Given the description of an element on the screen output the (x, y) to click on. 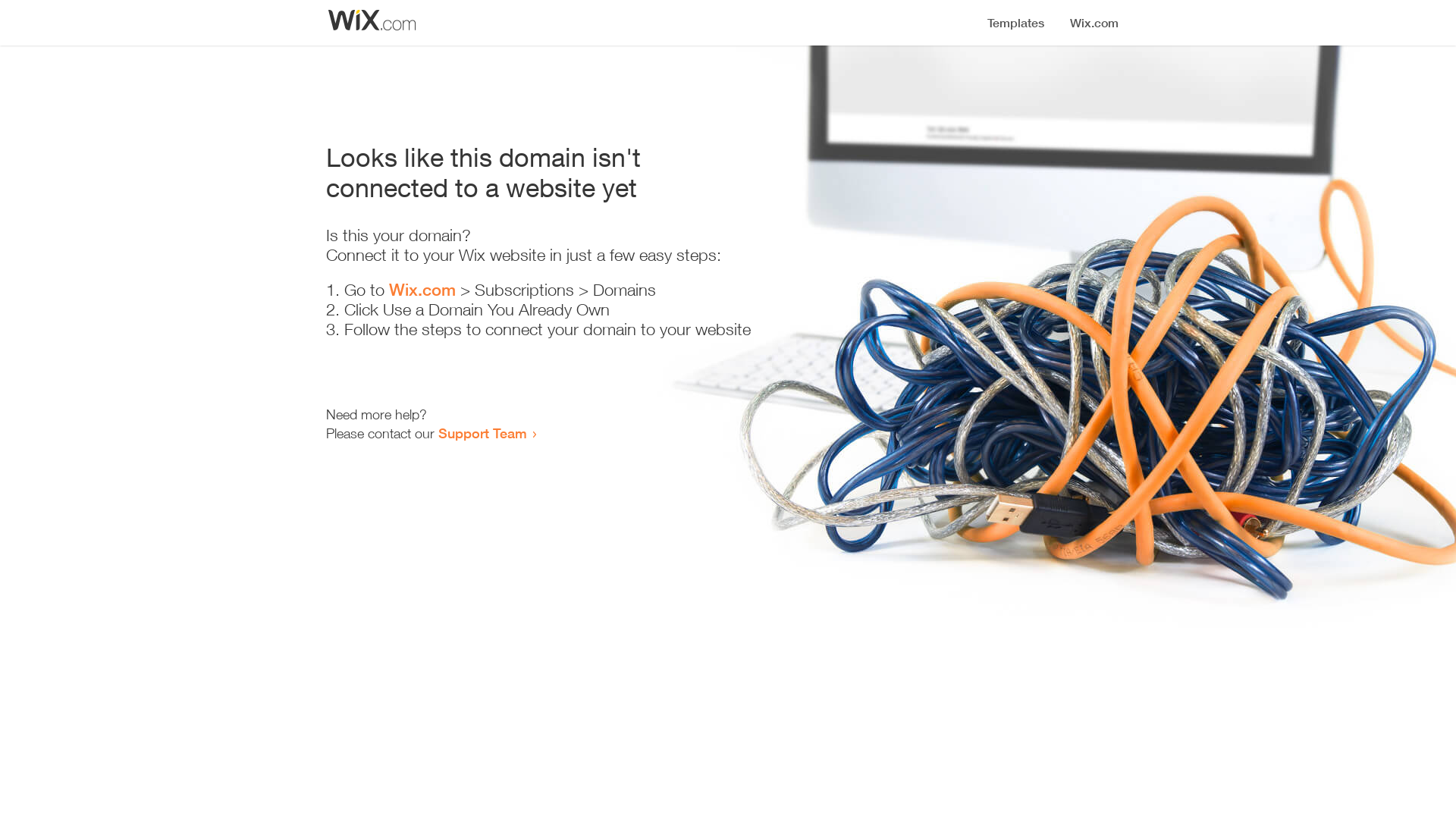
Wix.com Element type: text (422, 289)
Support Team Element type: text (482, 432)
